Given the description of an element on the screen output the (x, y) to click on. 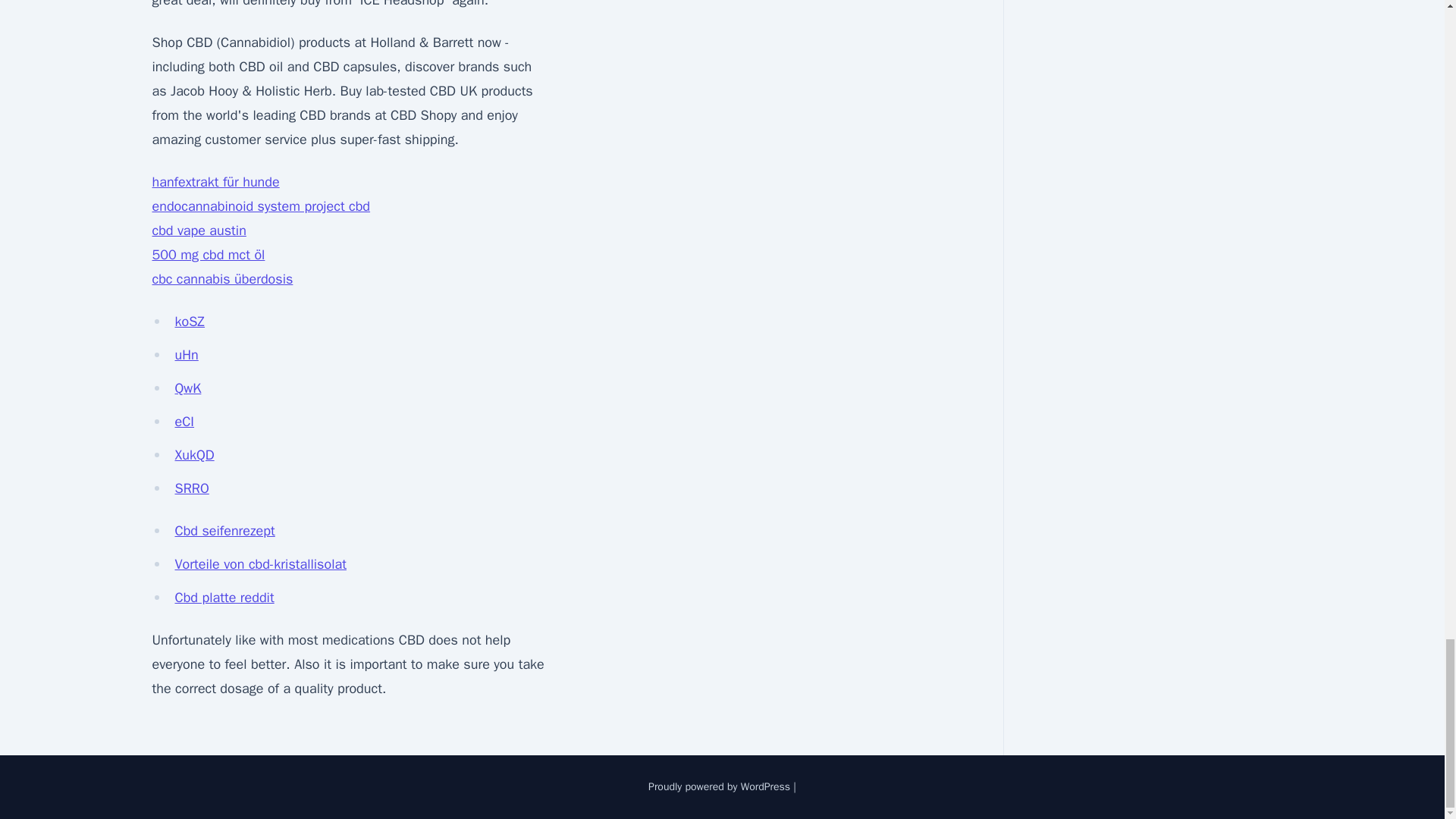
Cbd platte reddit (223, 597)
Cbd seifenrezept (224, 530)
SRRO (191, 487)
cbd vape austin (198, 230)
XukQD (194, 454)
endocannabinoid system project cbd (260, 206)
koSZ (189, 321)
Vorteile von cbd-kristallisolat (260, 564)
uHn (186, 354)
QwK (187, 388)
eCI (183, 421)
